Given the description of an element on the screen output the (x, y) to click on. 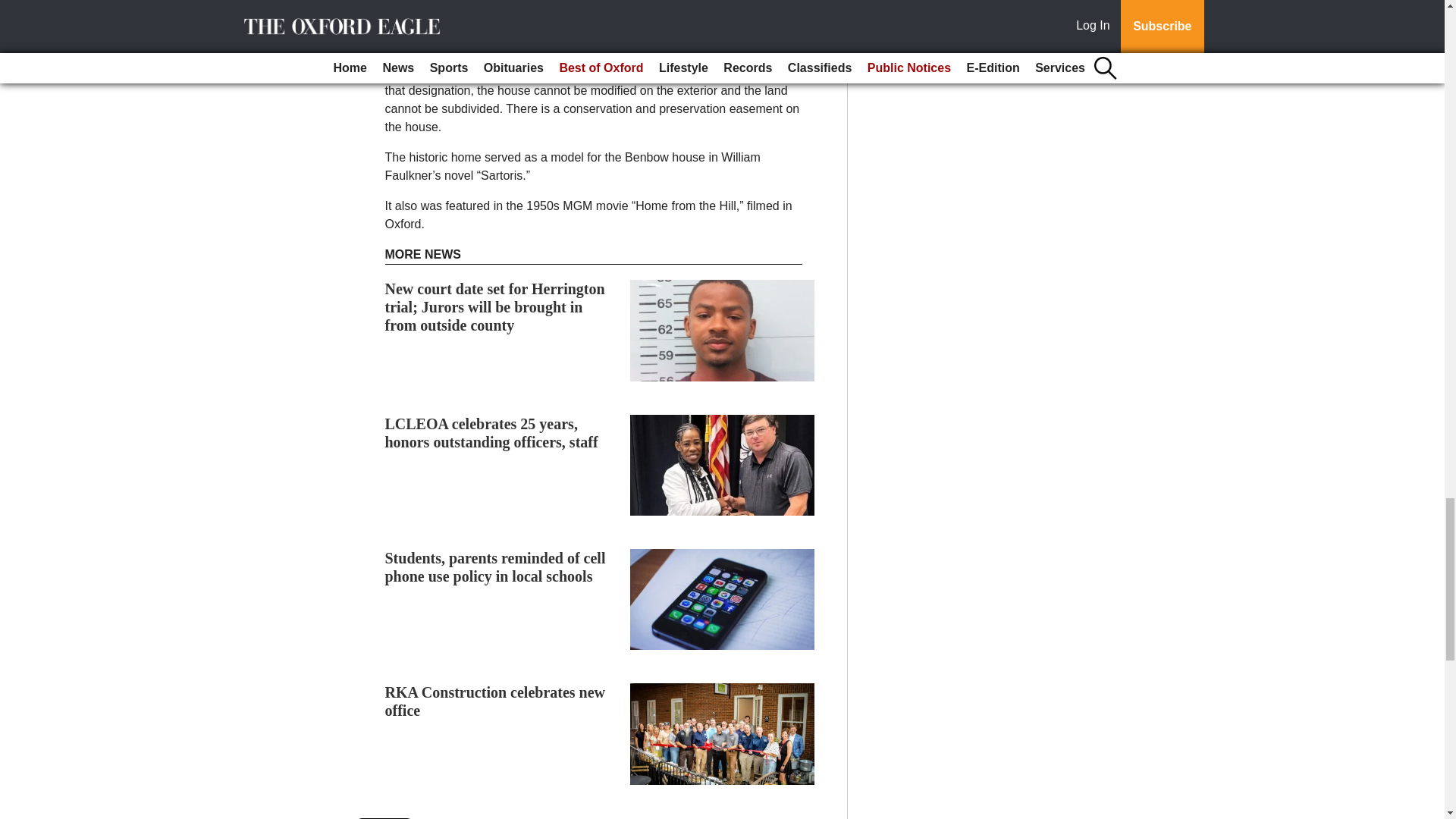
RKA Construction celebrates new office (495, 701)
RKA Construction celebrates new office (495, 701)
Print Article (384, 818)
